Given the description of an element on the screen output the (x, y) to click on. 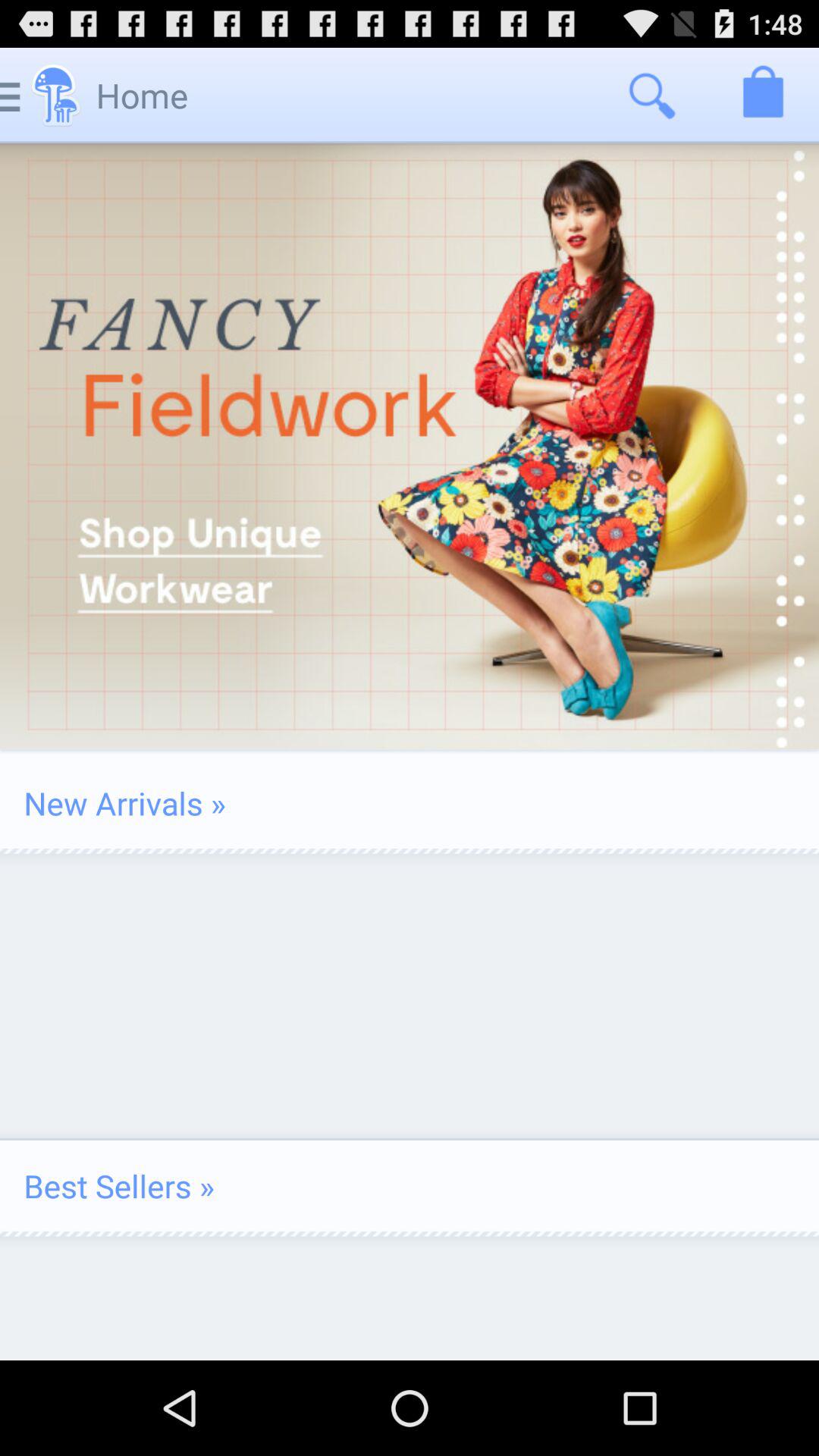
turn off the app to the right of the home icon (651, 95)
